Given the description of an element on the screen output the (x, y) to click on. 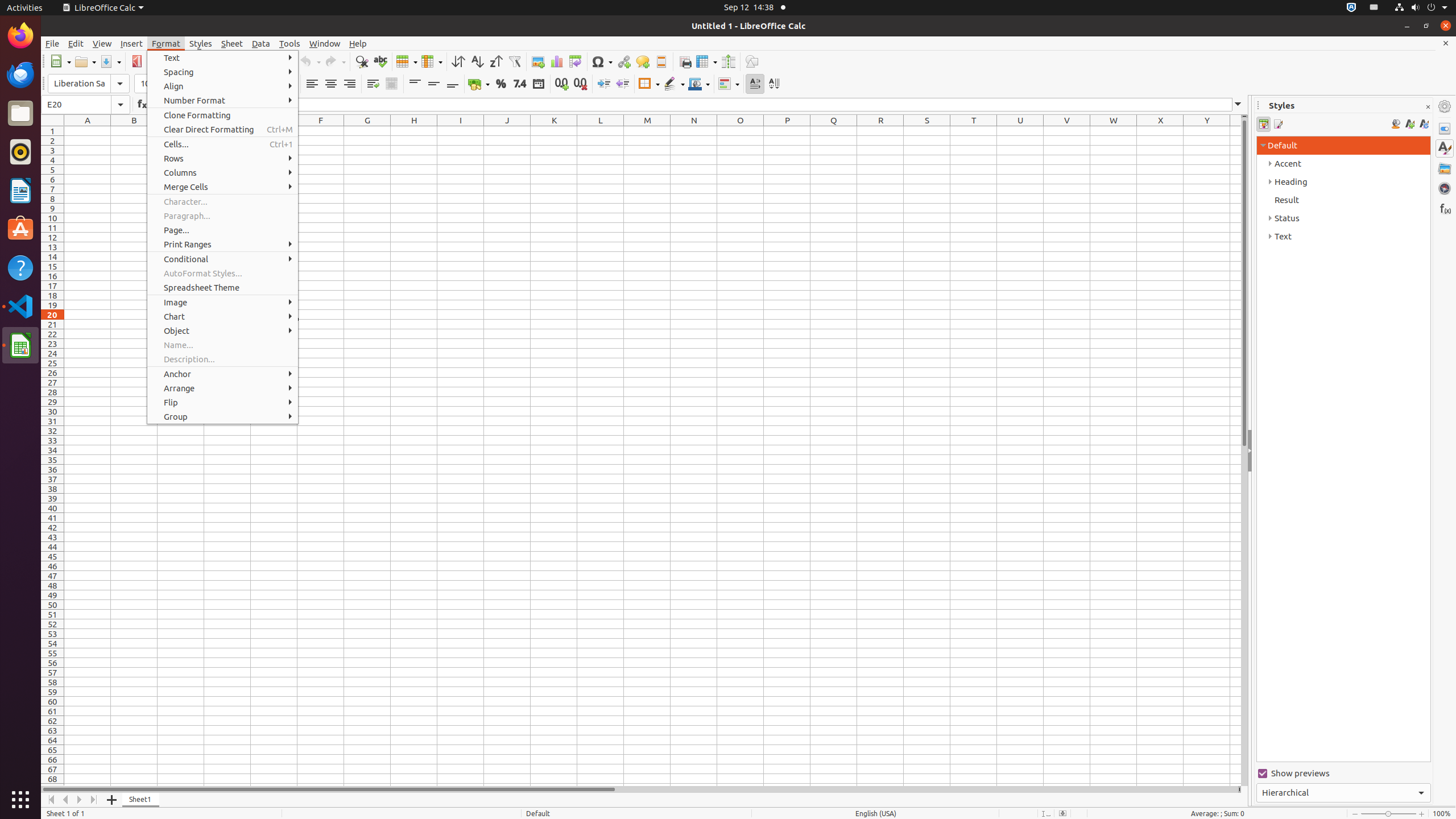
Text Element type: menu (222, 57)
M1 Element type: table-cell (646, 130)
AutoFormat Styles... Element type: menu-item (222, 273)
Paragraph... Element type: menu-item (222, 215)
V1 Element type: table-cell (1066, 130)
